Given the description of an element on the screen output the (x, y) to click on. 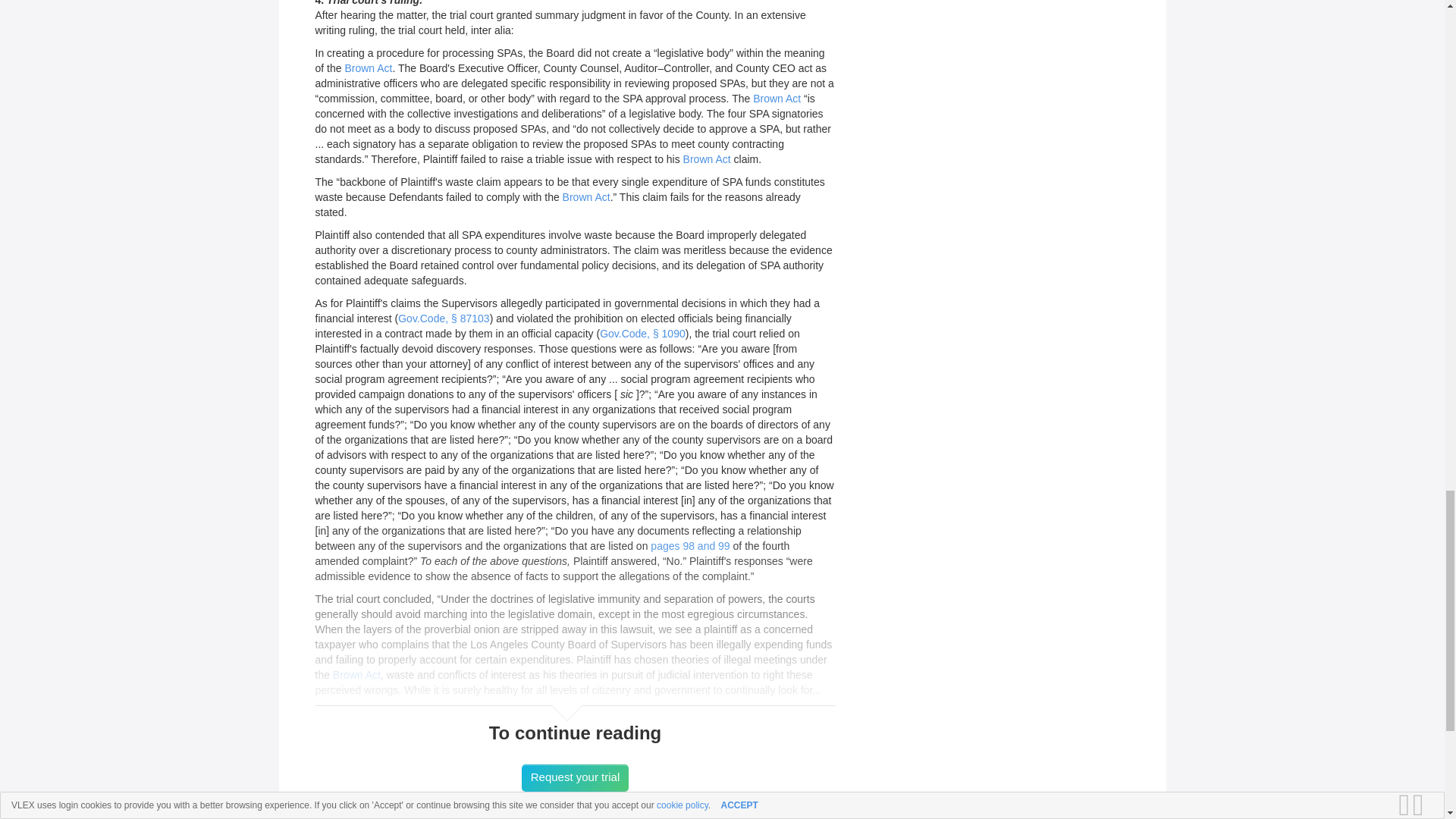
Brown Act (586, 196)
pages 98 and 99 (689, 545)
Brown Act (776, 98)
Brown Act (367, 68)
Brown Act (356, 674)
Brown Act (706, 159)
